Given the description of an element on the screen output the (x, y) to click on. 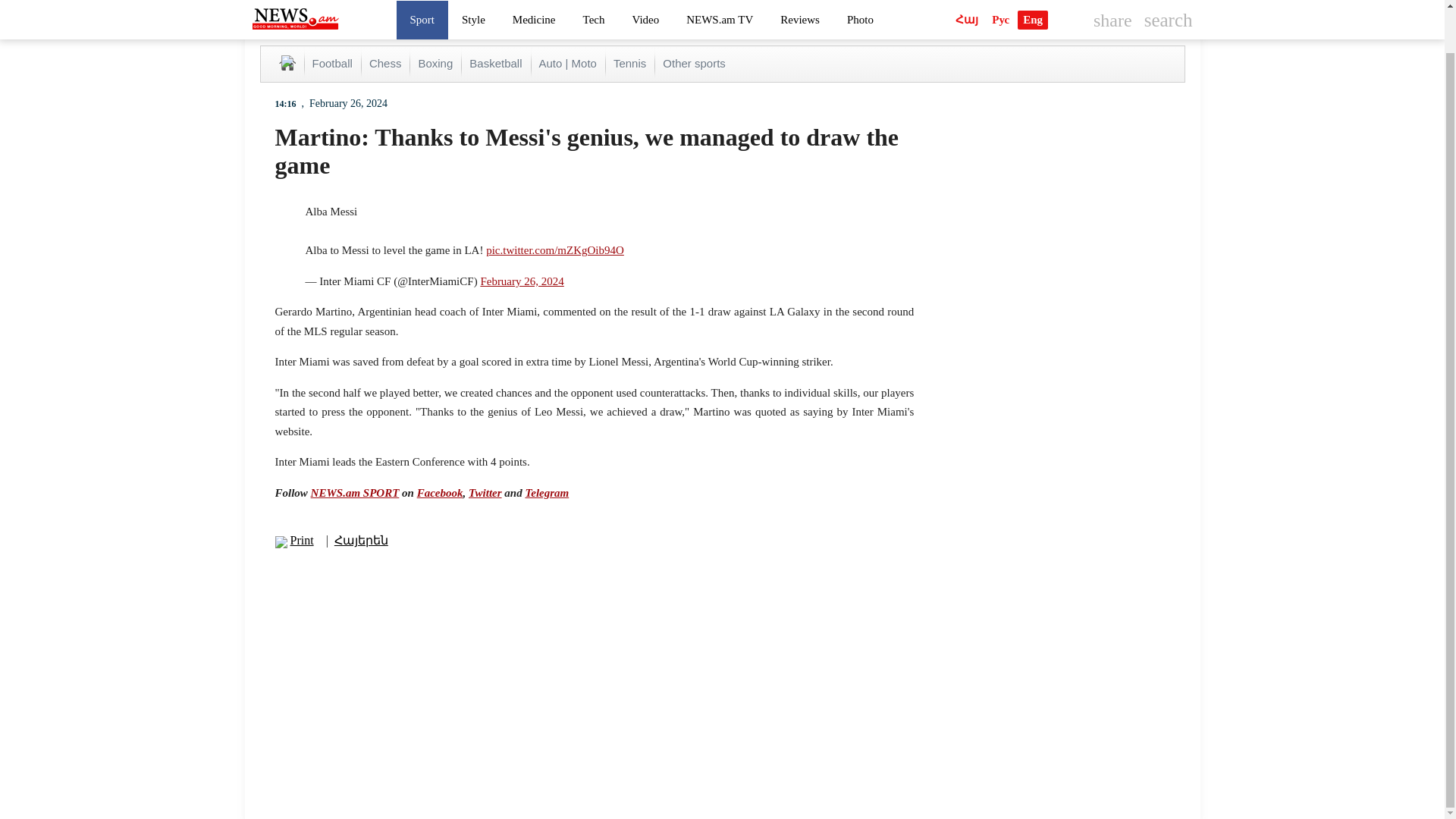
EURO 2024 (864, 15)
PHOTOS (1100, 15)
VIDEOS (1162, 15)
NEWS FEED (944, 15)
INTERVIEW (1027, 15)
Football (331, 63)
